Given the description of an element on the screen output the (x, y) to click on. 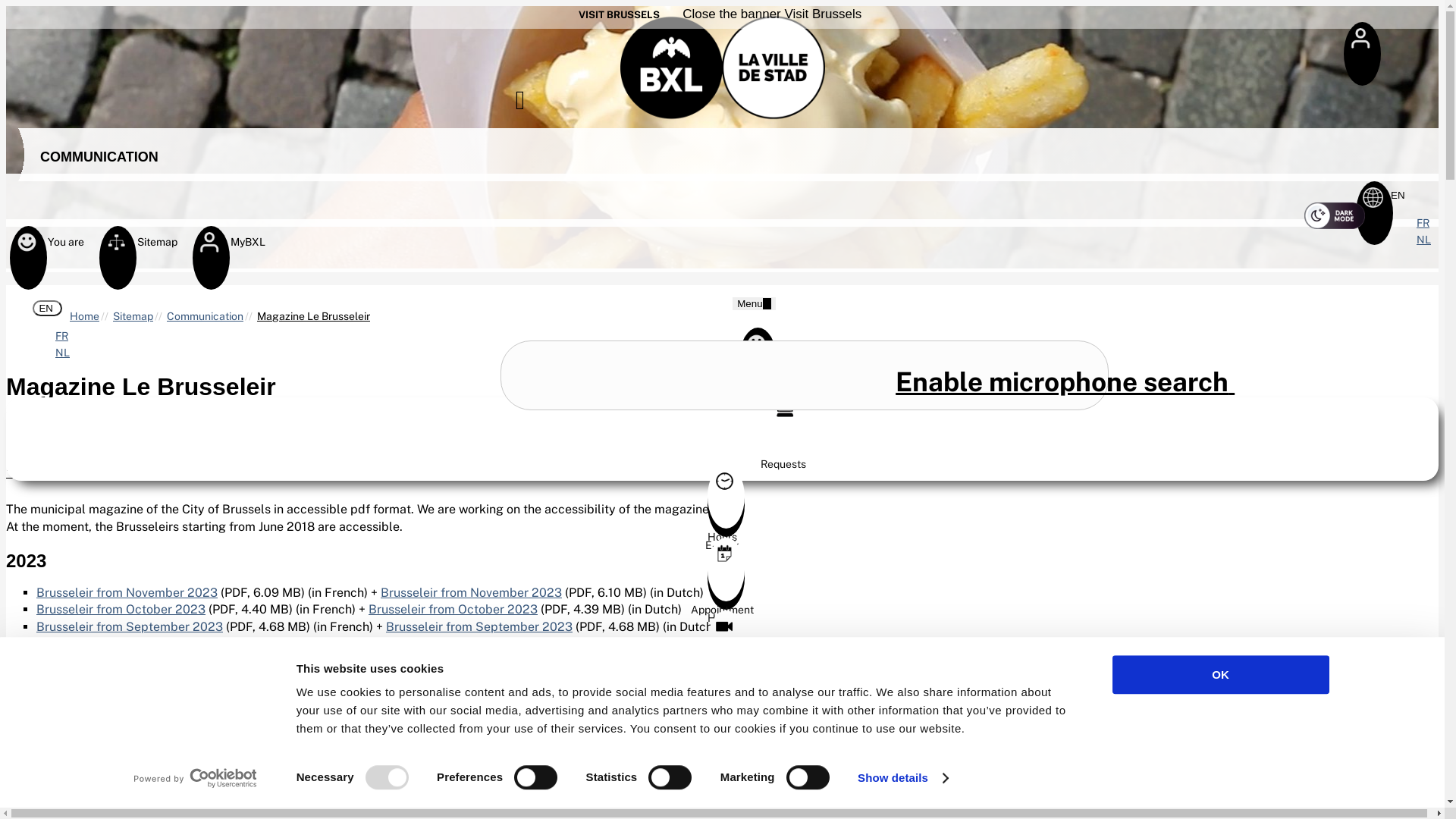
Hours Element type: text (722, 530)
Brusseleir from April 2023 Element type: text (424, 711)
NL Element type: text (62, 352)
Brusseleir from May 2023 Element type: text (109, 694)
You are Element type: text (722, 393)
Sitemap Element type: text (116, 248)
Appointment Element type: text (722, 684)
Brusseleir from July-August 2023 Element type: text (482, 643)
Live Element type: text (722, 676)
Brusseleir from June 2023 Element type: text (110, 677)
  Close the banner Visit Brussels Element type: text (768, 14)
Sitemap Element type: text (722, 466)
FR Element type: text (61, 335)
Switch to dark mode Element type: hover (1334, 215)
Brusseleir from February 2023 Element type: text (123, 744)
Brusseleir from October 2023 Element type: text (120, 609)
OK Element type: text (1219, 674)
You are Element type: text (26, 248)
Menu    Element type: text (753, 303)
Appointment Element type: text (722, 603)
MyBXL Element type: text (209, 248)
Magazine Le Brusseleir Element type: text (313, 316)
Brusseleir from July-August 2023 Element type: text (130, 643)
Brusseleir from November 2023 Element type: text (126, 592)
Download the Brusseleir in pdf Element type: text (362, 467)
Brusseleir from December 2022 - January 2023 Element type: text (168, 808)
VISIT BRUSSELS Element type: text (618, 14)
Show details Element type: text (902, 777)
Brusseleir from February 2023 Element type: text (458, 744)
Search Element type: hover (804, 375)
Communication Element type: text (204, 316)
Search Element type: text (538, 102)
Enable microphone search  Element type: text (1064, 381)
EN  Element type: text (46, 308)
Brusseleir from June 2023 Element type: text (421, 677)
Home Element type: text (84, 316)
Brusseleir from November 2023 Element type: text (470, 592)
Brusseleir from March 2023 Element type: text (436, 728)
Brusseleir from March 2023 Element type: text (115, 728)
Requests Element type: text (783, 457)
Brusseleir from April 2023 Element type: text (111, 711)
Homepage City of Brussels Element type: hover (722, 64)
Live Element type: text (722, 757)
Back to top Element type: text (1419, 748)
NL Element type: text (1423, 239)
Brusseleir from October 2023 Element type: text (452, 609)
Political life Element type: text (722, 749)
EN  Element type: text (1399, 194)
Brusseleir from September 2023 Element type: text (478, 626)
E-desk Element type: text (722, 539)
Brusseleir from September 2023 Element type: text (129, 626)
Hours Element type: text (722, 611)
Sitemap Element type: text (132, 316)
Brusseleir from May 2023 Element type: text (419, 694)
FR Element type: text (1422, 222)
